Given the description of an element on the screen output the (x, y) to click on. 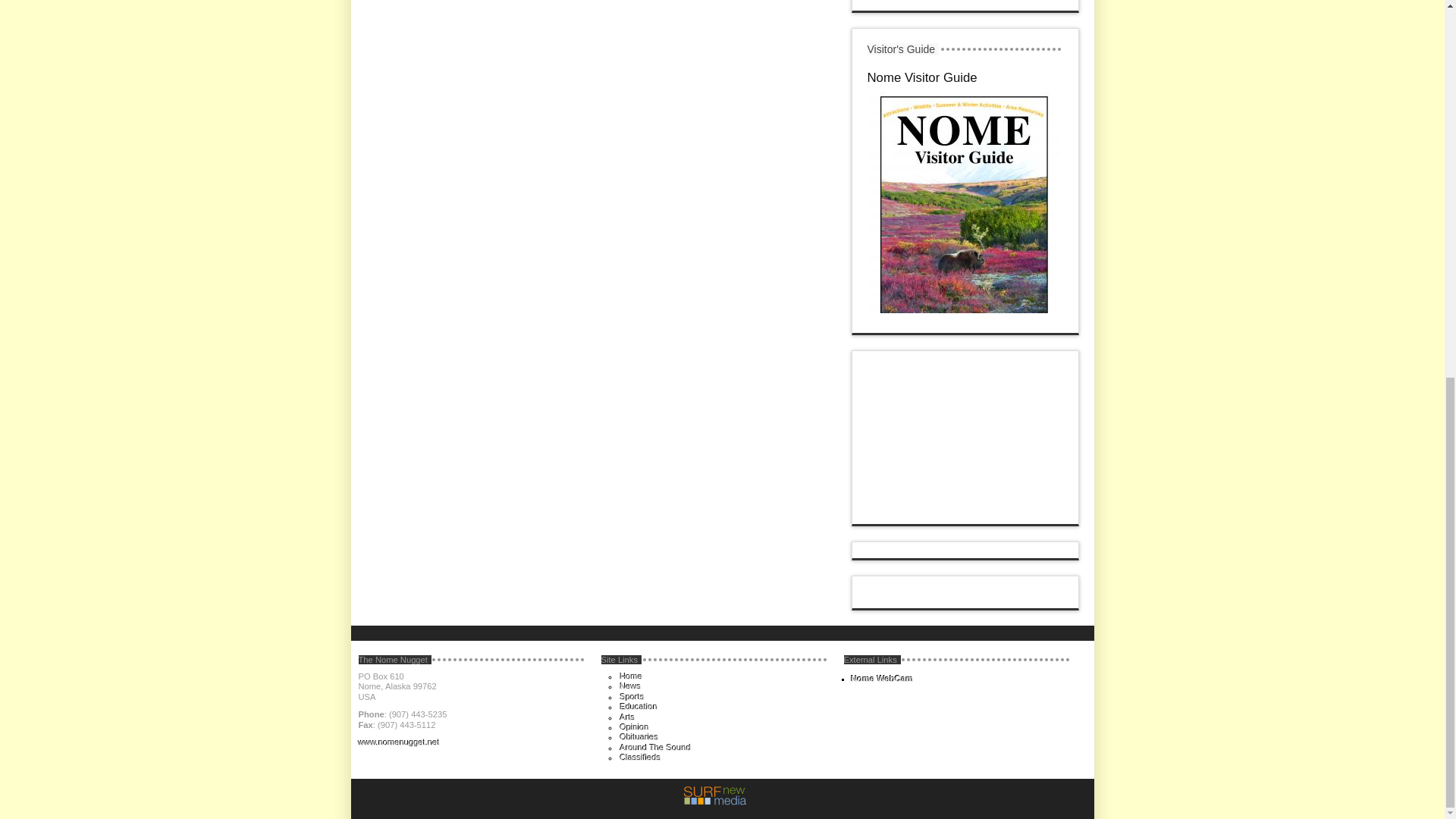
www.nomenugget.net (398, 741)
Nome Visitor Guide (921, 77)
forecast (965, 516)
News (631, 686)
Home (631, 675)
Sports (632, 696)
Education (639, 706)
